Given the description of an element on the screen output the (x, y) to click on. 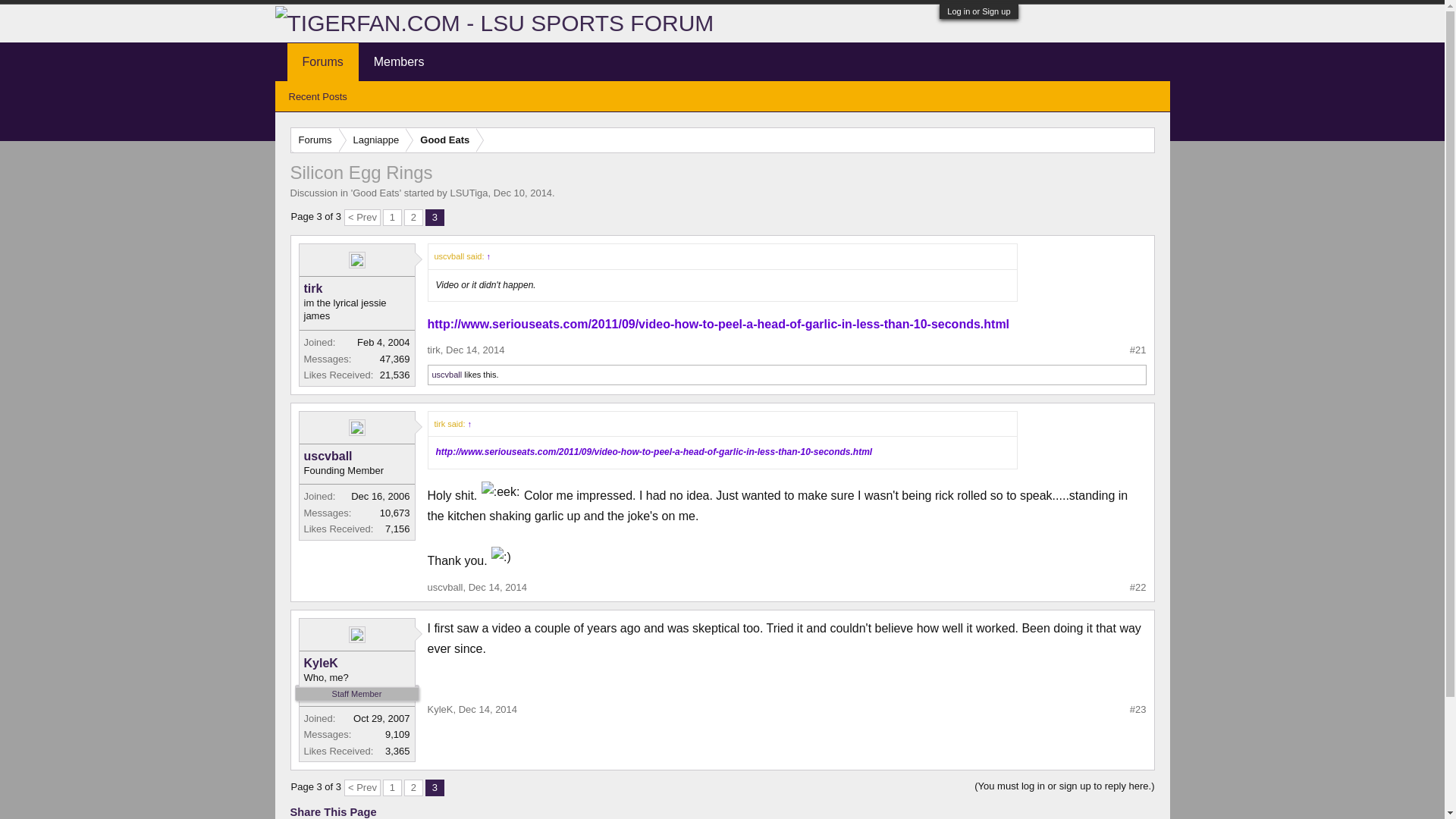
Open quick navigation (1141, 139)
10,673 (395, 512)
1 (391, 787)
1 (391, 217)
Permalink (1138, 587)
Eek!    :eek: (500, 491)
Dec 14, 2014 (474, 349)
uscvball (355, 456)
2 (413, 787)
tirk (434, 349)
